Given the description of an element on the screen output the (x, y) to click on. 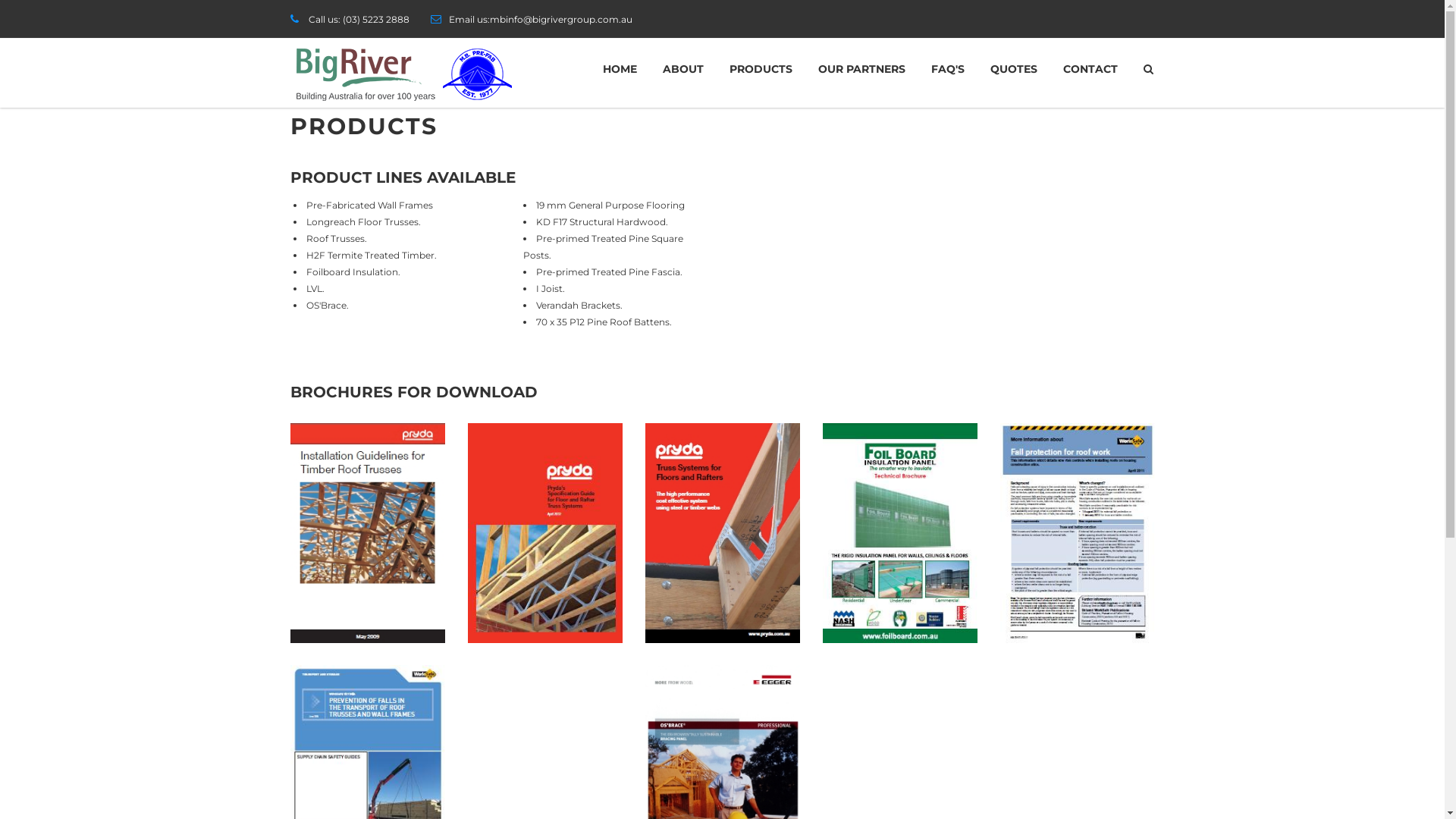
ABOUT Element type: text (682, 68)
OUR PARTNERS Element type: text (861, 68)
FAQ'S Element type: text (946, 68)
CONTACT Element type: text (1089, 68)
HOME Element type: text (619, 68)
PRODUCTS Element type: text (759, 68)
QUOTES Element type: text (1012, 68)
